Given the description of an element on the screen output the (x, y) to click on. 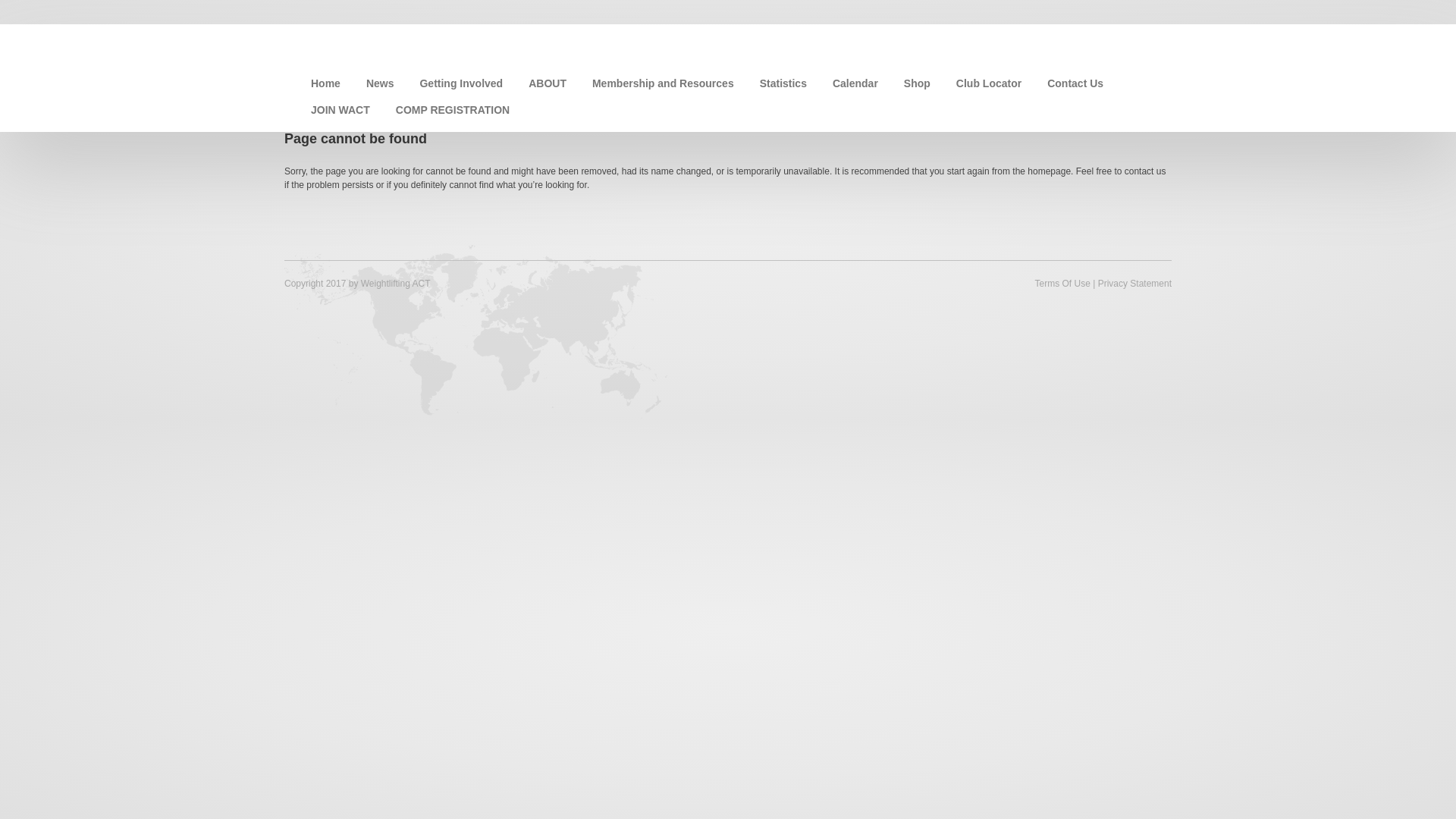
Club Locator Element type: text (988, 83)
Statistics Element type: text (783, 83)
Terms Of Use Element type: text (1061, 283)
Calendar Element type: text (855, 83)
COMP REGISTRATION Element type: text (452, 109)
Contact Us Element type: text (1074, 83)
ABOUT Element type: text (547, 83)
Home Element type: text (325, 83)
Privacy Statement Element type: text (1134, 283)
Getting Involved Element type: text (460, 83)
Membership and Resources Element type: text (662, 83)
JOIN WACT Element type: text (340, 109)
News Element type: text (379, 83)
Shop Element type: text (916, 83)
